Given the description of an element on the screen output the (x, y) to click on. 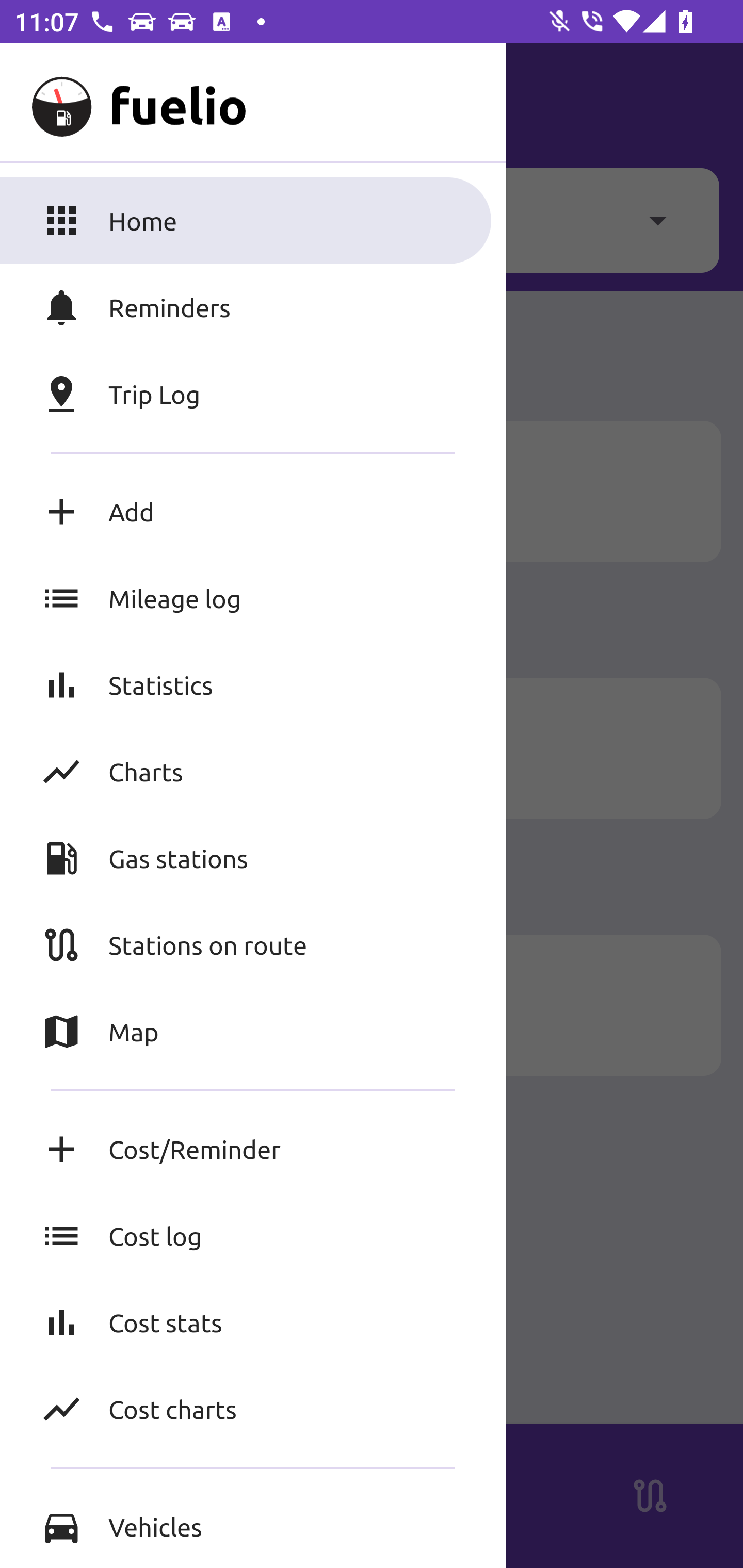
Fuelio (50, 101)
Home (252, 220)
Reminders (252, 307)
Trip Log (252, 394)
Add (252, 511)
Mileage log (252, 598)
Statistics (252, 684)
Charts (252, 771)
Gas stations (252, 858)
Stations on route (252, 944)
Map (252, 1031)
Cost/Reminder (252, 1149)
Cost log (252, 1236)
Cost stats (252, 1322)
Cost charts (252, 1408)
Vehicles (252, 1525)
